Given the description of an element on the screen output the (x, y) to click on. 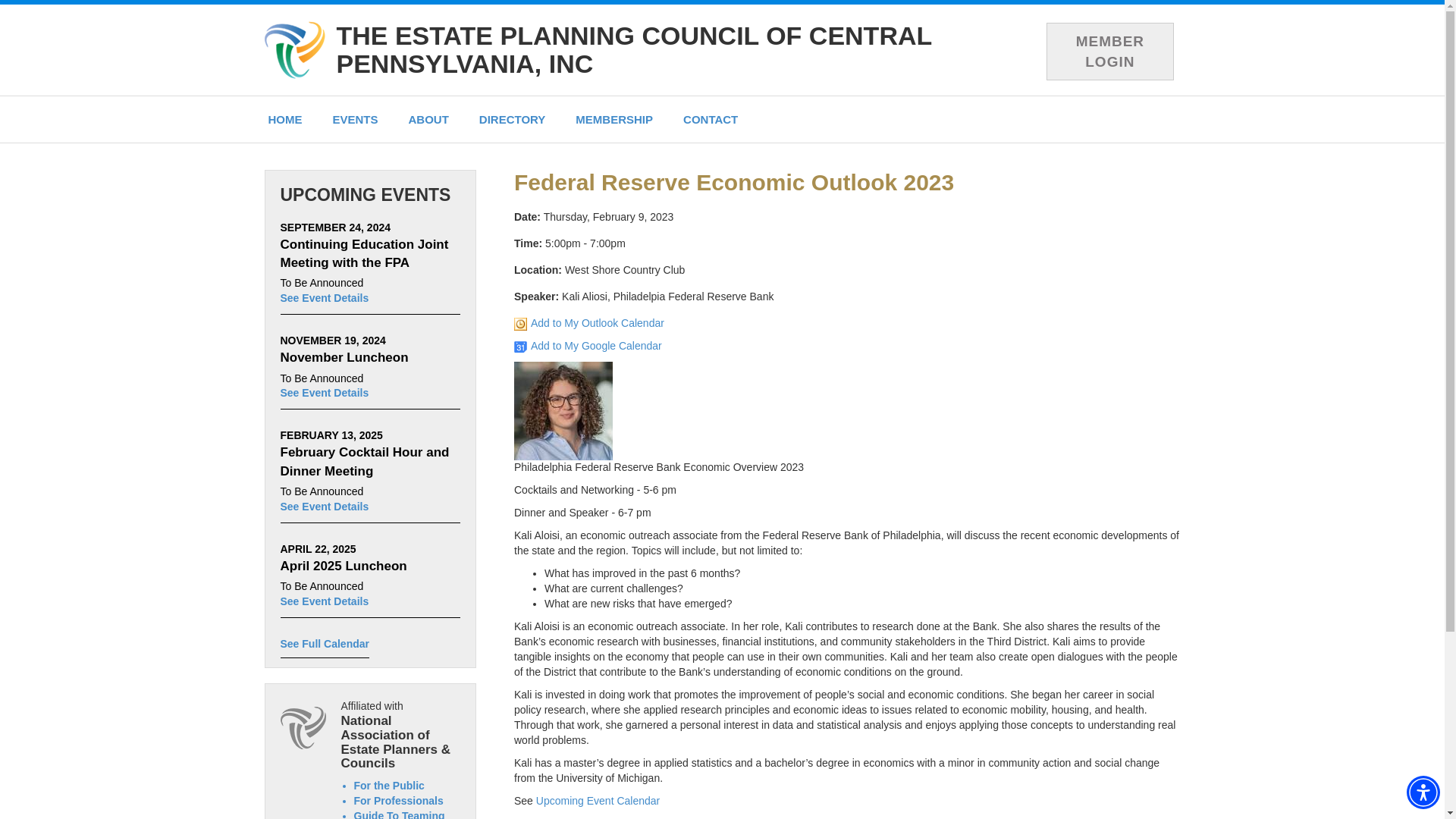
MEMBER LOGIN (1109, 51)
Accessibility Menu (1422, 792)
HOME (285, 119)
ABOUT (428, 119)
THE ESTATE PLANNING COUNCIL OF CENTRAL PENNSYLVANIA, INC (633, 49)
EVENTS (355, 119)
